Given the description of an element on the screen output the (x, y) to click on. 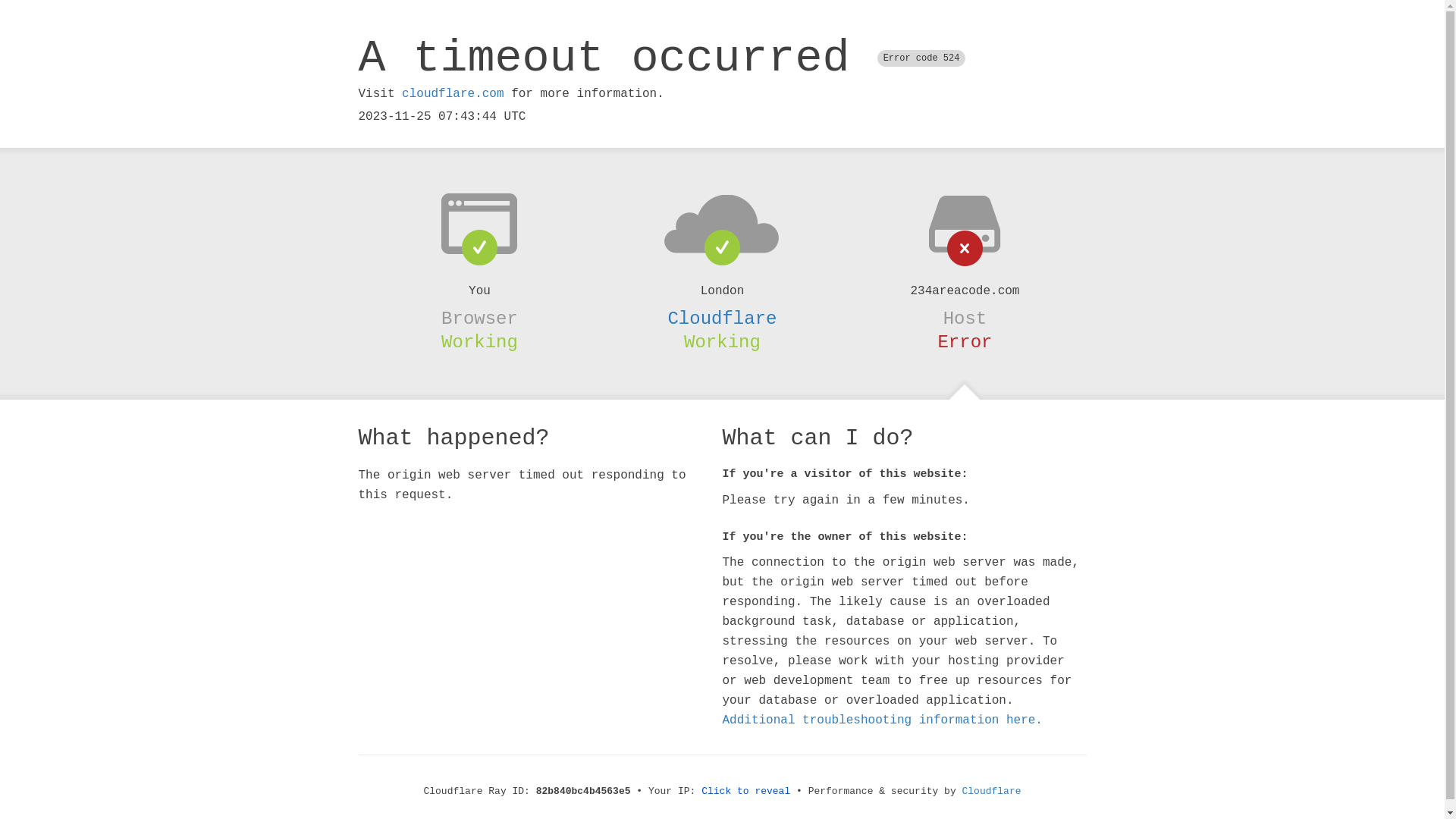
Additional troubleshooting information here. Element type: text (881, 720)
Click to reveal Element type: text (745, 791)
Cloudflare Element type: text (721, 318)
cloudflare.com Element type: text (452, 93)
Cloudflare Element type: text (991, 791)
